Given the description of an element on the screen output the (x, y) to click on. 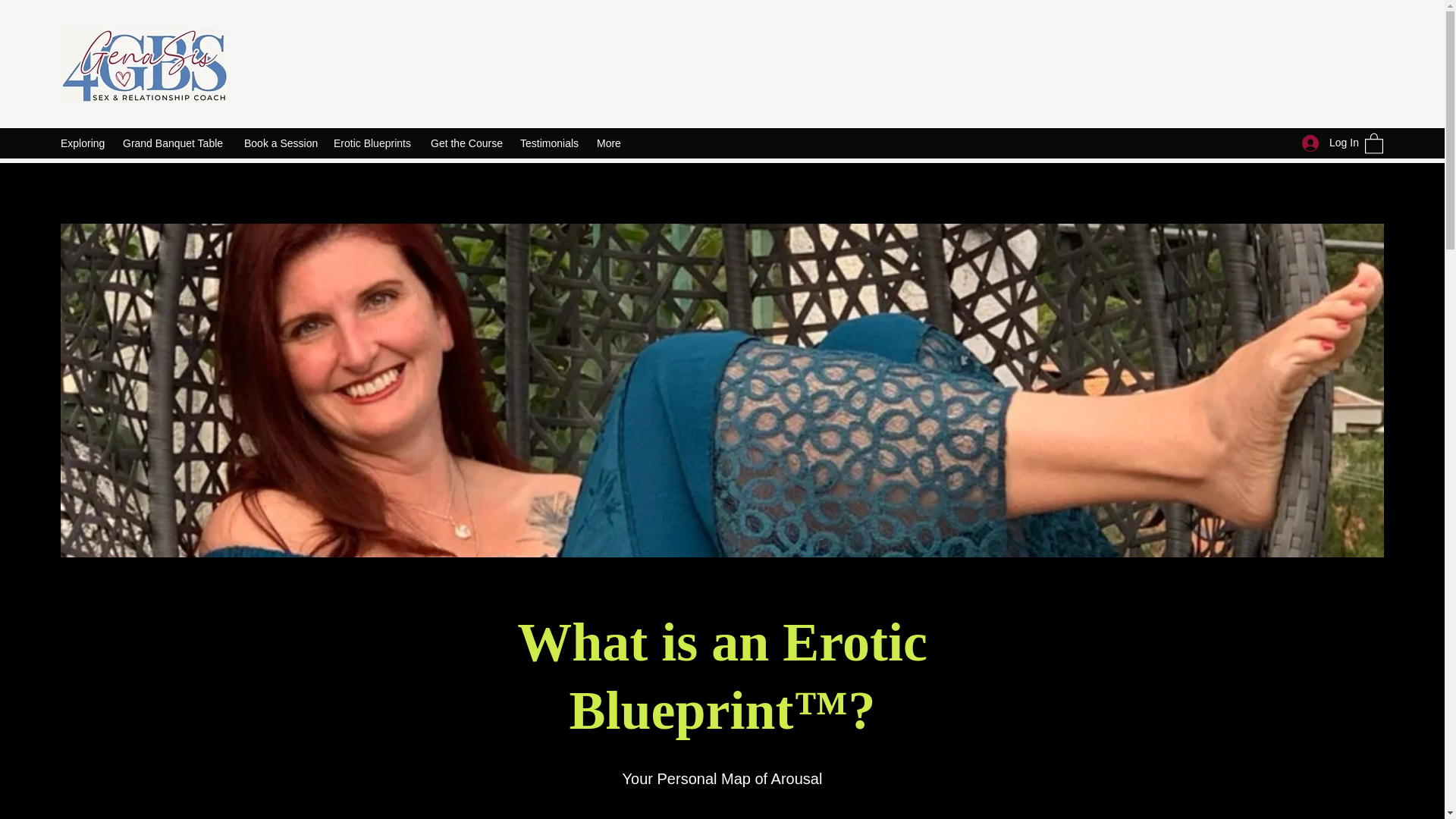
Book a Session (280, 142)
Log In (1325, 142)
Erotic Blueprints (374, 142)
Testimonials (550, 142)
Get the Course (467, 142)
Exploring (83, 142)
Grand Banquet Table (175, 142)
